Given the description of an element on the screen output the (x, y) to click on. 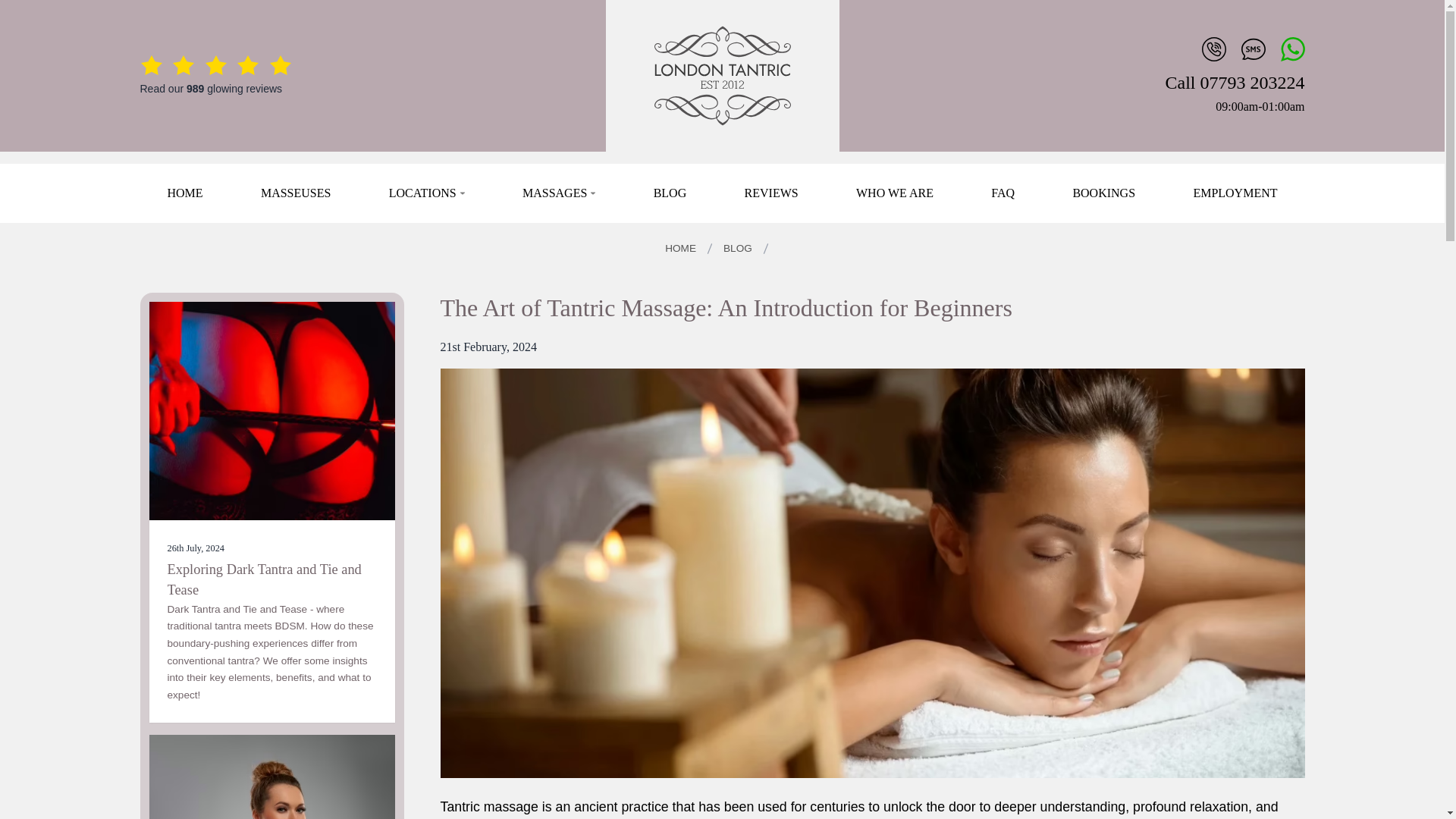
HOME (184, 192)
Call 07793 203224 (1234, 82)
LOCATIONS (426, 193)
Call 07793 203224 (1234, 82)
Read our 989 glowing reviews (215, 76)
WhatsApp (1290, 47)
MASSEUSES (295, 193)
07793 203224 (1211, 47)
sms:07793203224 (1251, 47)
London Tantric (721, 75)
